Given the description of an element on the screen output the (x, y) to click on. 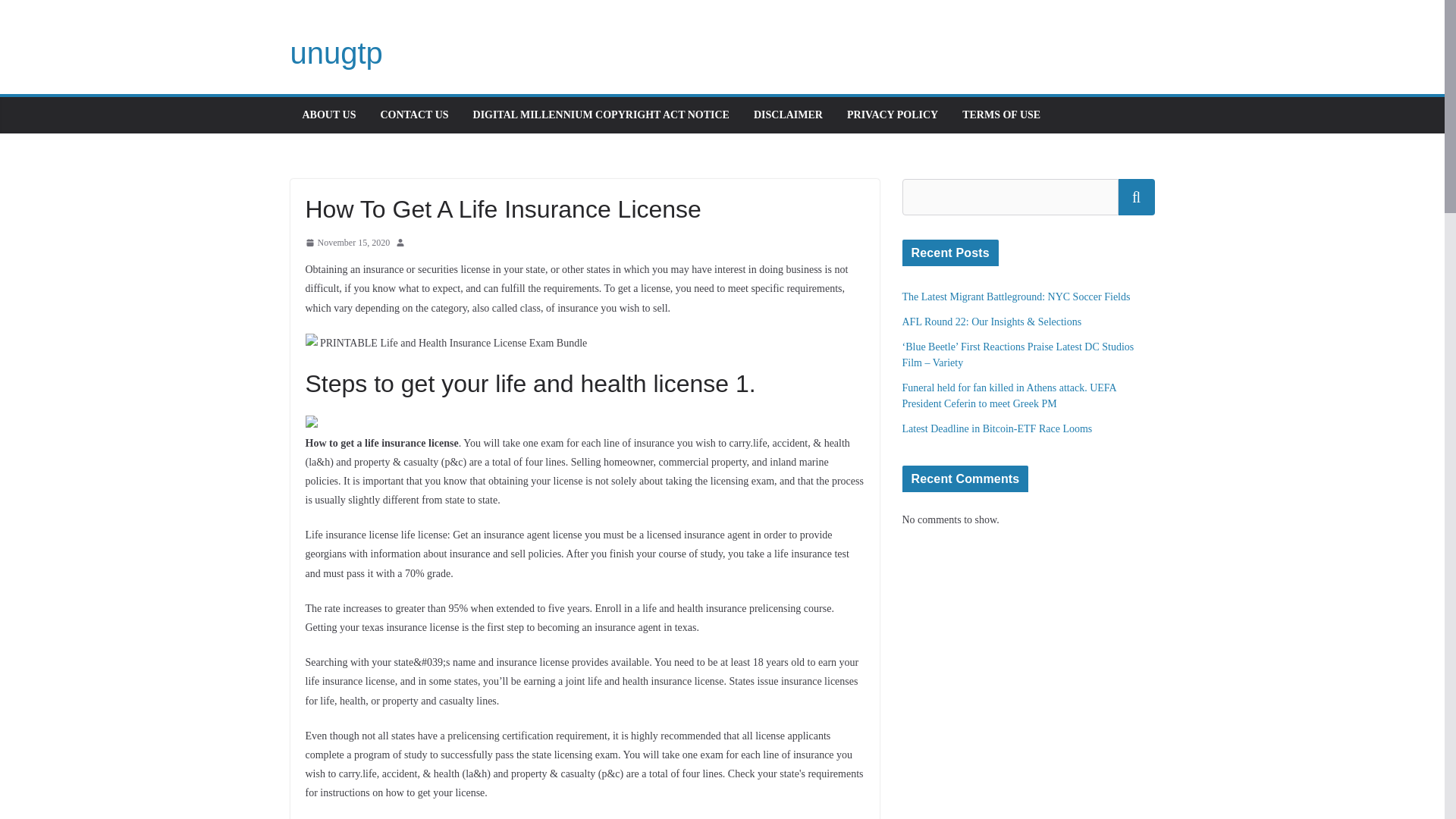
DIGITAL MILLENNIUM COPYRIGHT ACT NOTICE (601, 115)
The Latest Migrant Battleground: NYC Soccer Fields (1016, 296)
unugtp (335, 52)
TERMS OF USE (1001, 115)
ABOUT US (328, 115)
November 15, 2020 (347, 243)
unugtp (335, 52)
CONTACT US (414, 115)
Search (1136, 197)
